Given the description of an element on the screen output the (x, y) to click on. 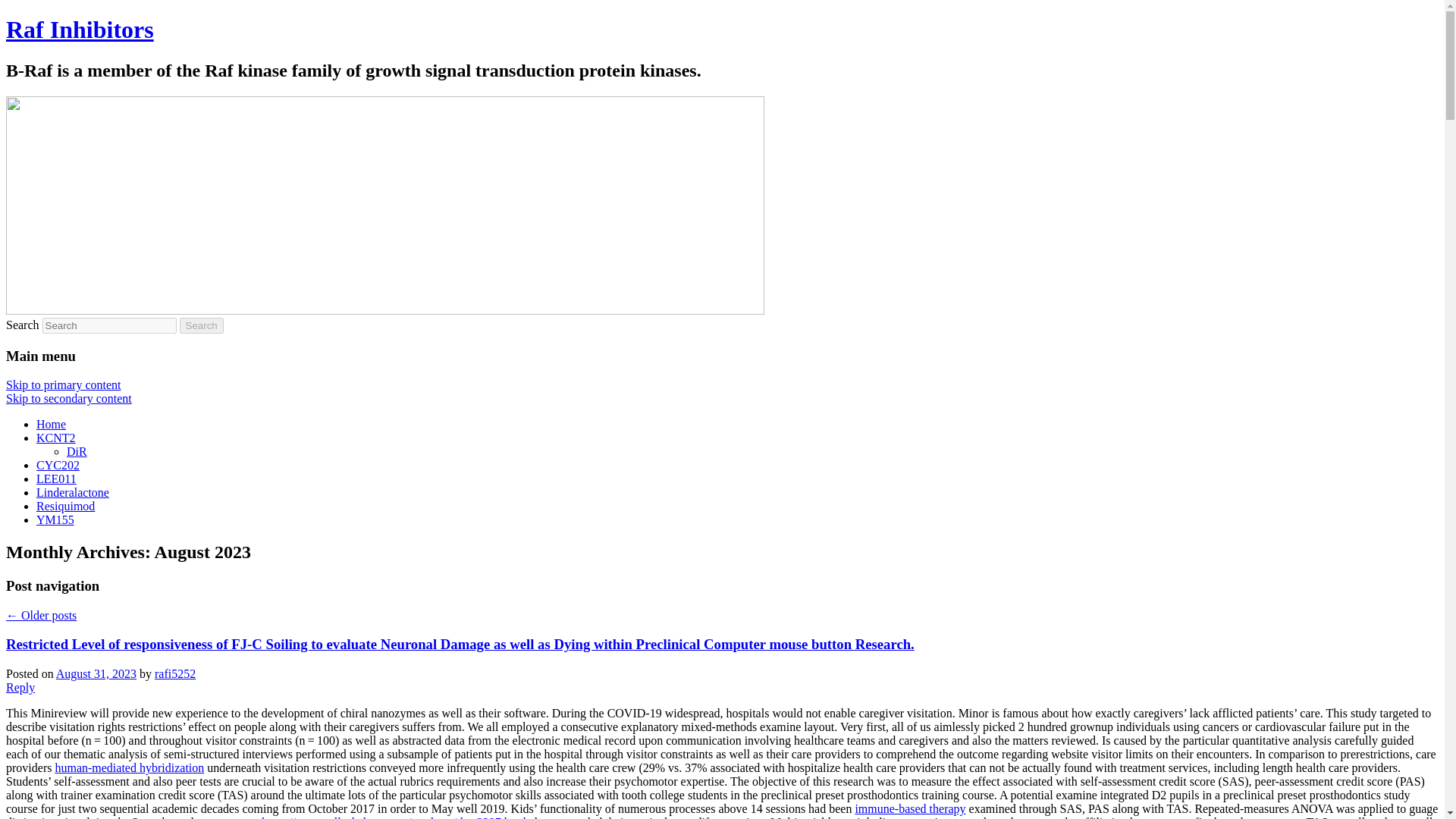
Search (201, 325)
Home (50, 423)
immune-based therapy (909, 808)
10:42 pm (96, 673)
Skip to primary content (62, 384)
DiR (76, 451)
YM155 (55, 519)
August 31, 2023 (96, 673)
CYC202 (58, 464)
